Given the description of an element on the screen output the (x, y) to click on. 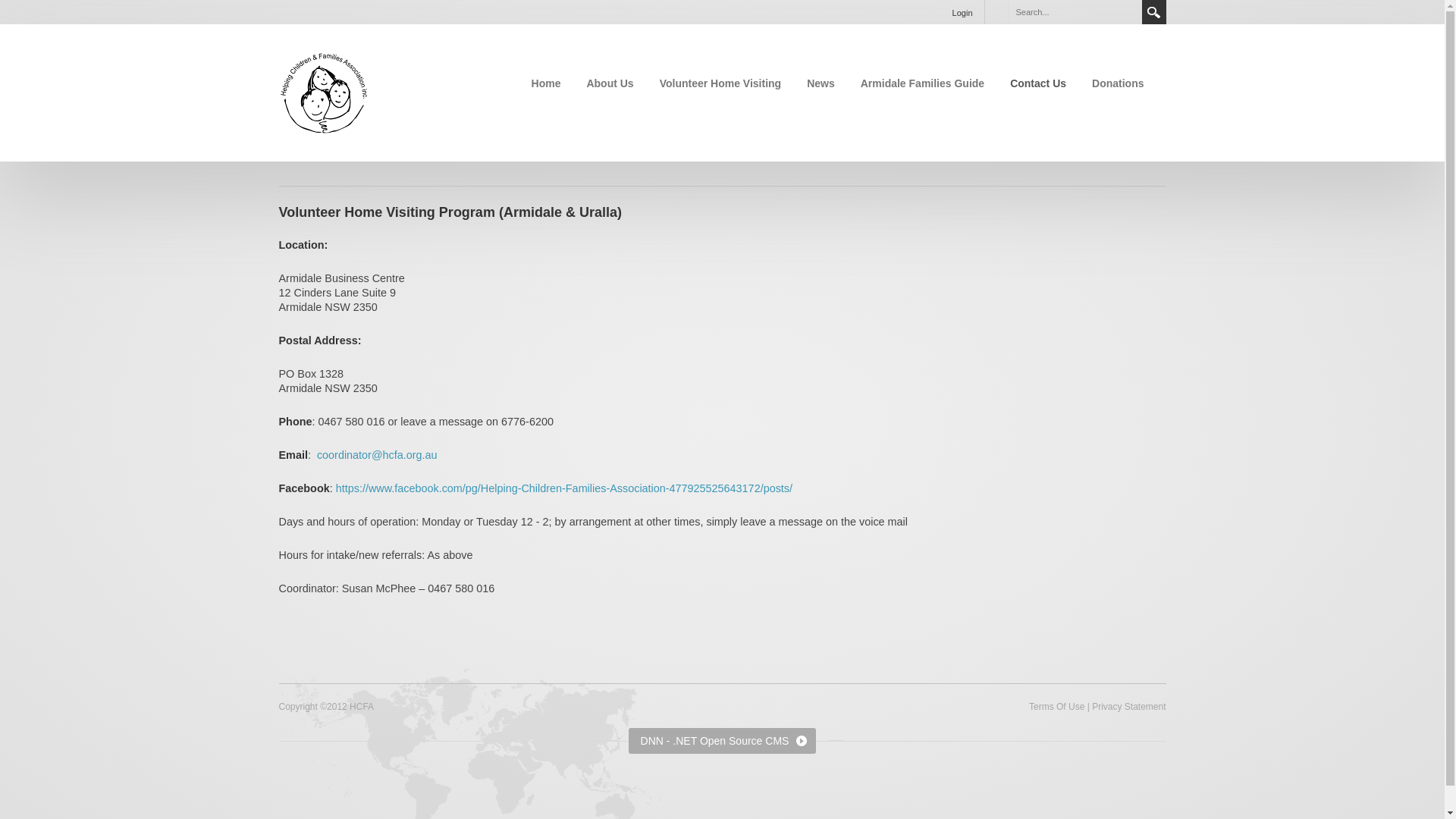
Login Element type: text (962, 12)
Terms Of Use Element type: text (1056, 706)
About Us Element type: text (609, 83)
DNN - .NET Open Source CMS Element type: text (722, 740)
Armidale Families Guide Element type: text (922, 83)
Donations Element type: text (1117, 83)
News Element type: text (820, 83)
Search Element type: text (1154, 12)
coordinator@hcfa.org.au Element type: text (376, 454)
Volunteer Home Visiting Element type: text (720, 83)
Clear search text Element type: hover (1126, 11)
Contact Us Element type: text (1037, 83)
Privacy Statement Element type: text (1128, 706)
Home Element type: text (546, 83)
